Given the description of an element on the screen output the (x, y) to click on. 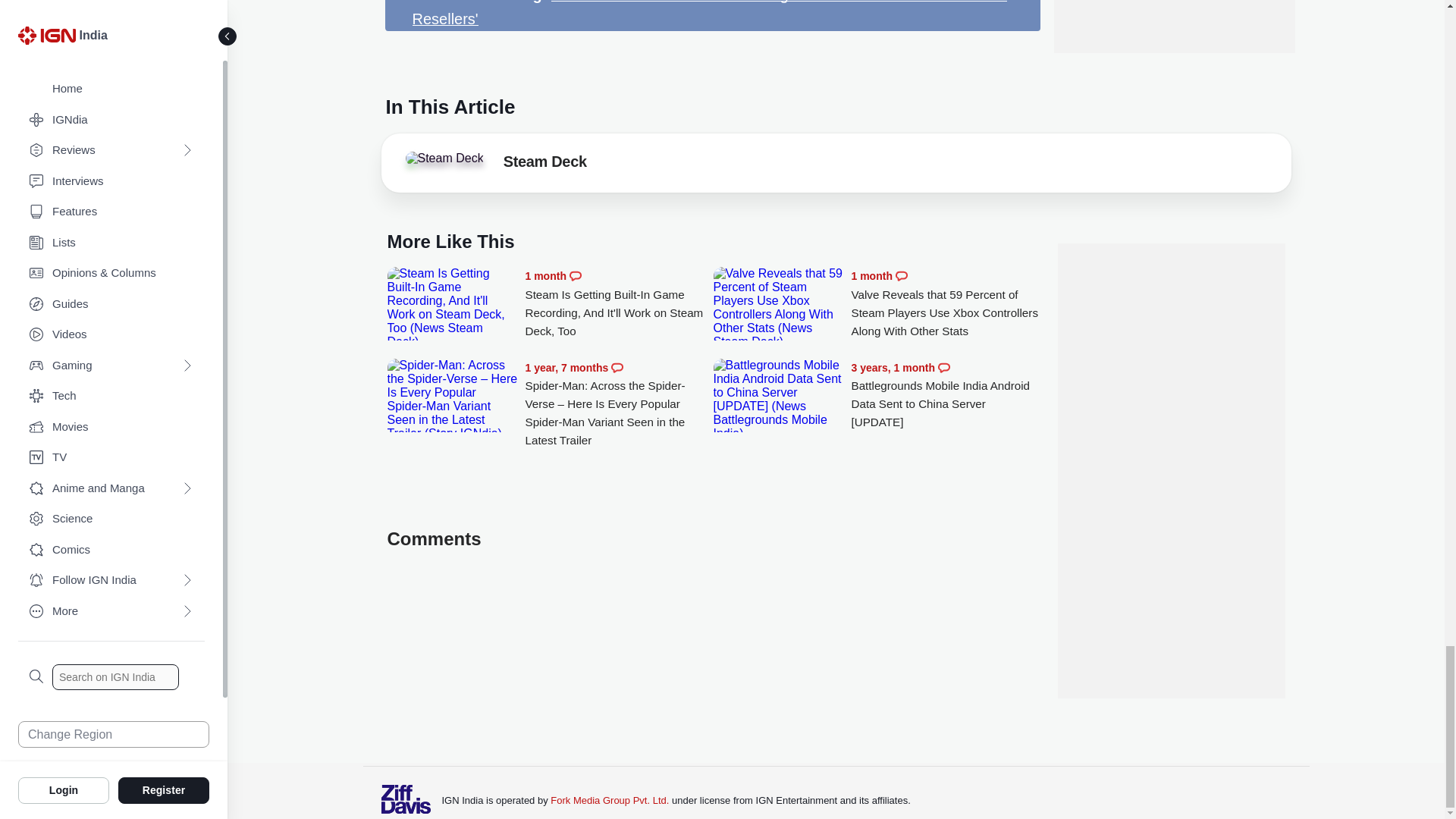
Steam Deck (448, 162)
Steam Deck (443, 158)
Steam Deck (544, 164)
